Given the description of an element on the screen output the (x, y) to click on. 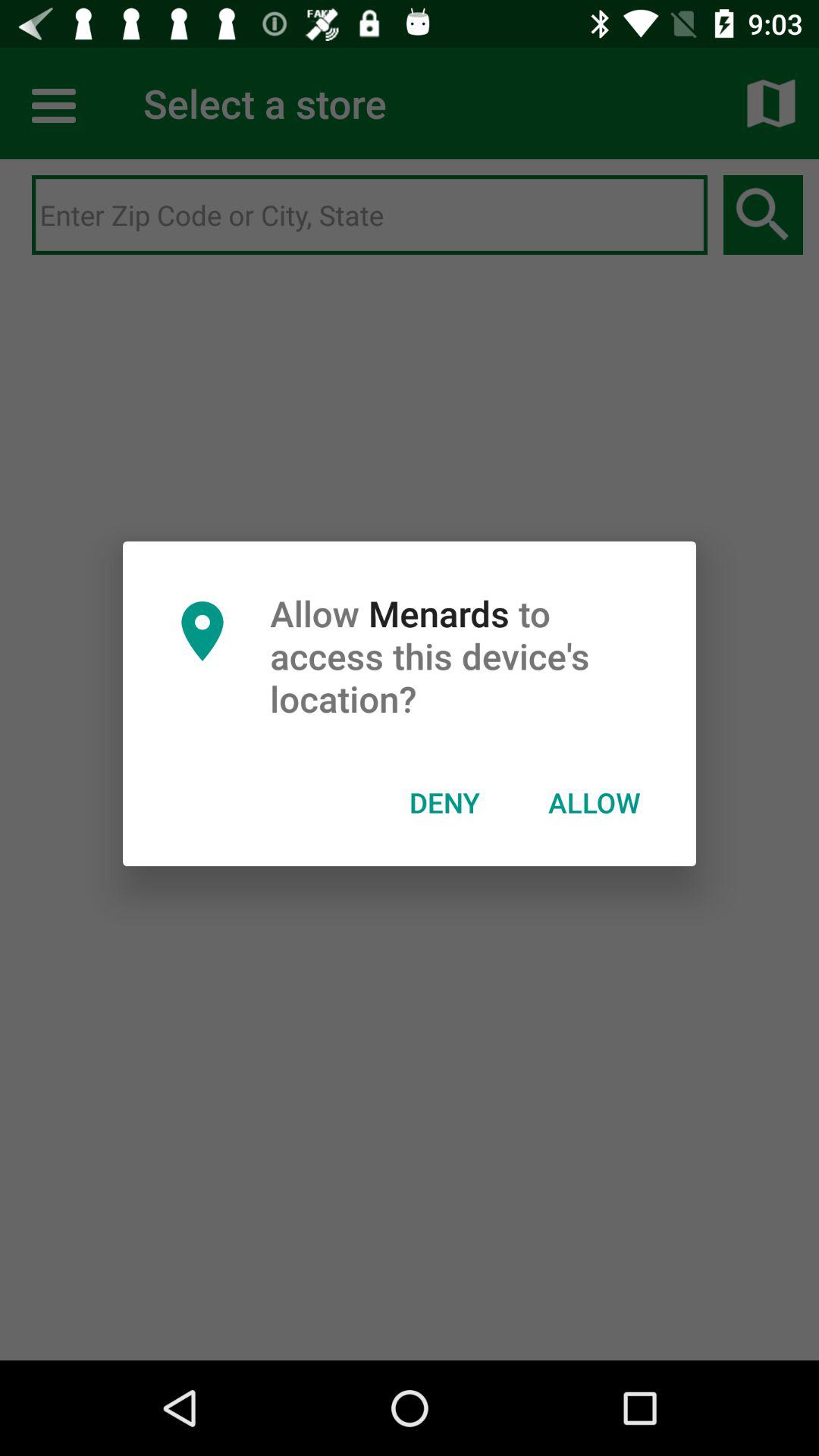
advertisement (369, 215)
